Given the description of an element on the screen output the (x, y) to click on. 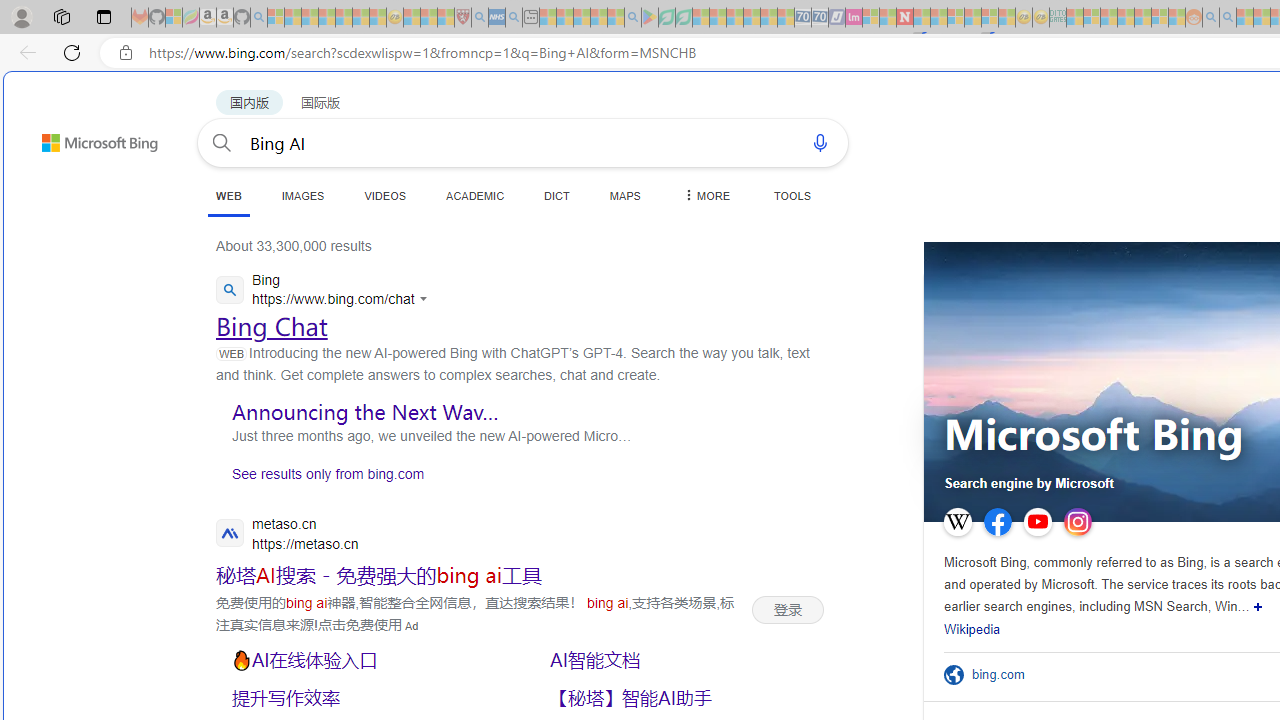
SERP,5515 (788, 609)
SERP,5518 (683, 659)
SERP,5520 (683, 697)
Bing Chat (271, 326)
